Given the description of an element on the screen output the (x, y) to click on. 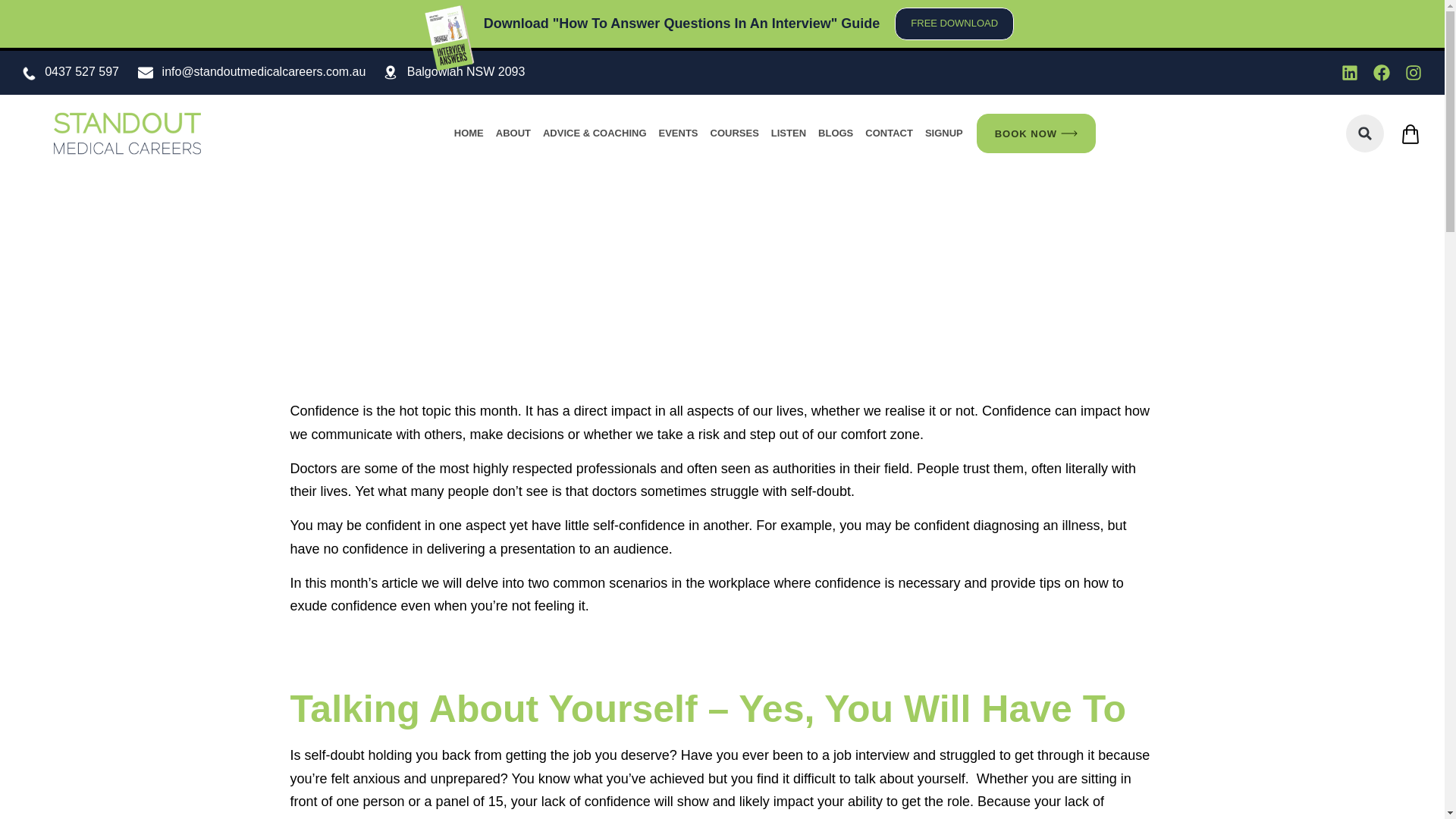
LISTEN (788, 133)
0437 527 597 (82, 71)
FREE DOWNLOAD (954, 23)
BOOK NOW (1036, 133)
shopping-bag (1410, 133)
CONTACT (888, 133)
Balgowlah NSW 2093 (466, 71)
HOME (468, 133)
SIGNUP (943, 133)
EVENTS (677, 133)
BLOGS (835, 133)
ABOUT (513, 133)
COURSES (734, 133)
